Given the description of an element on the screen output the (x, y) to click on. 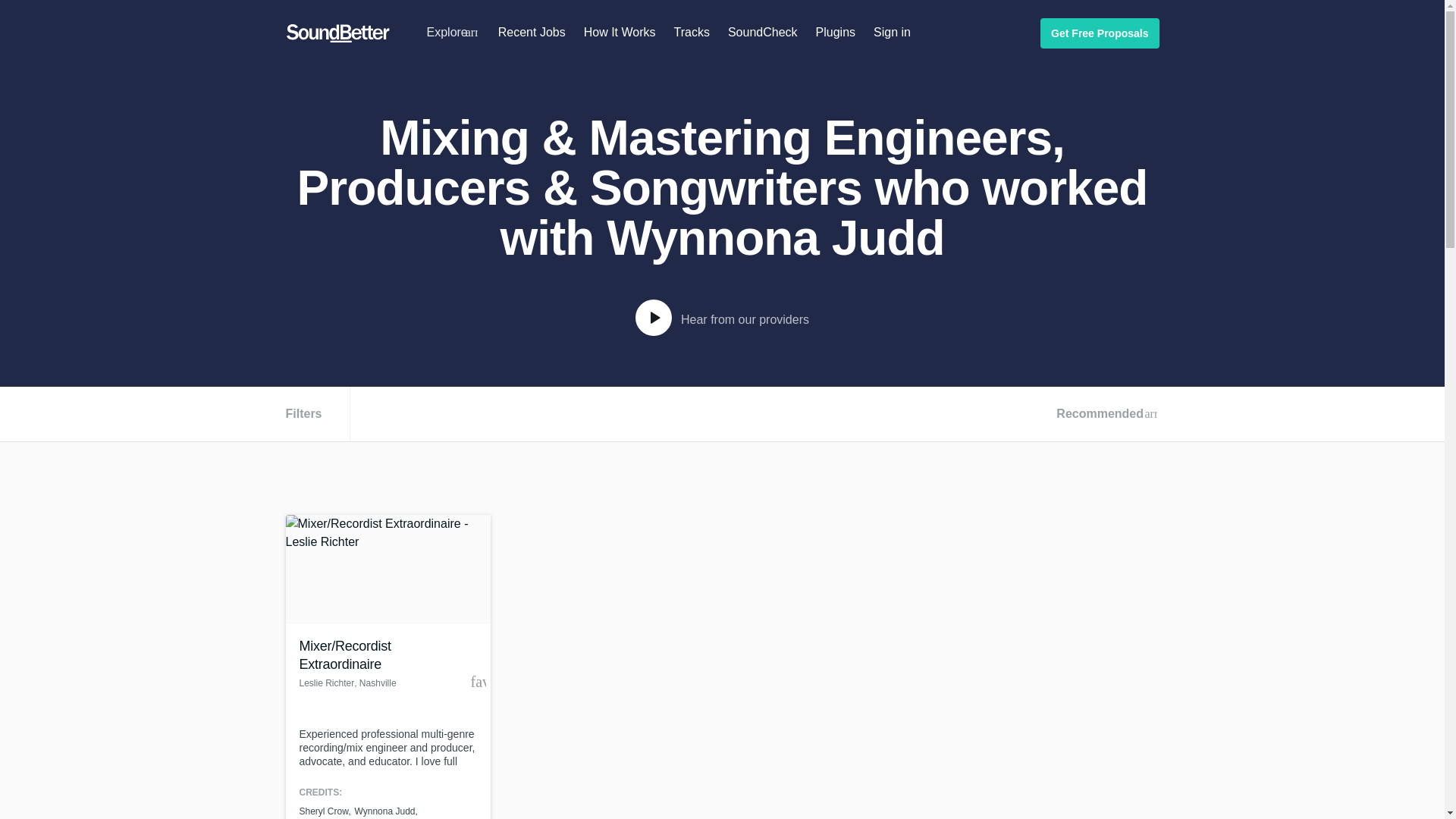
SoundBetter (337, 33)
